Given the description of an element on the screen output the (x, y) to click on. 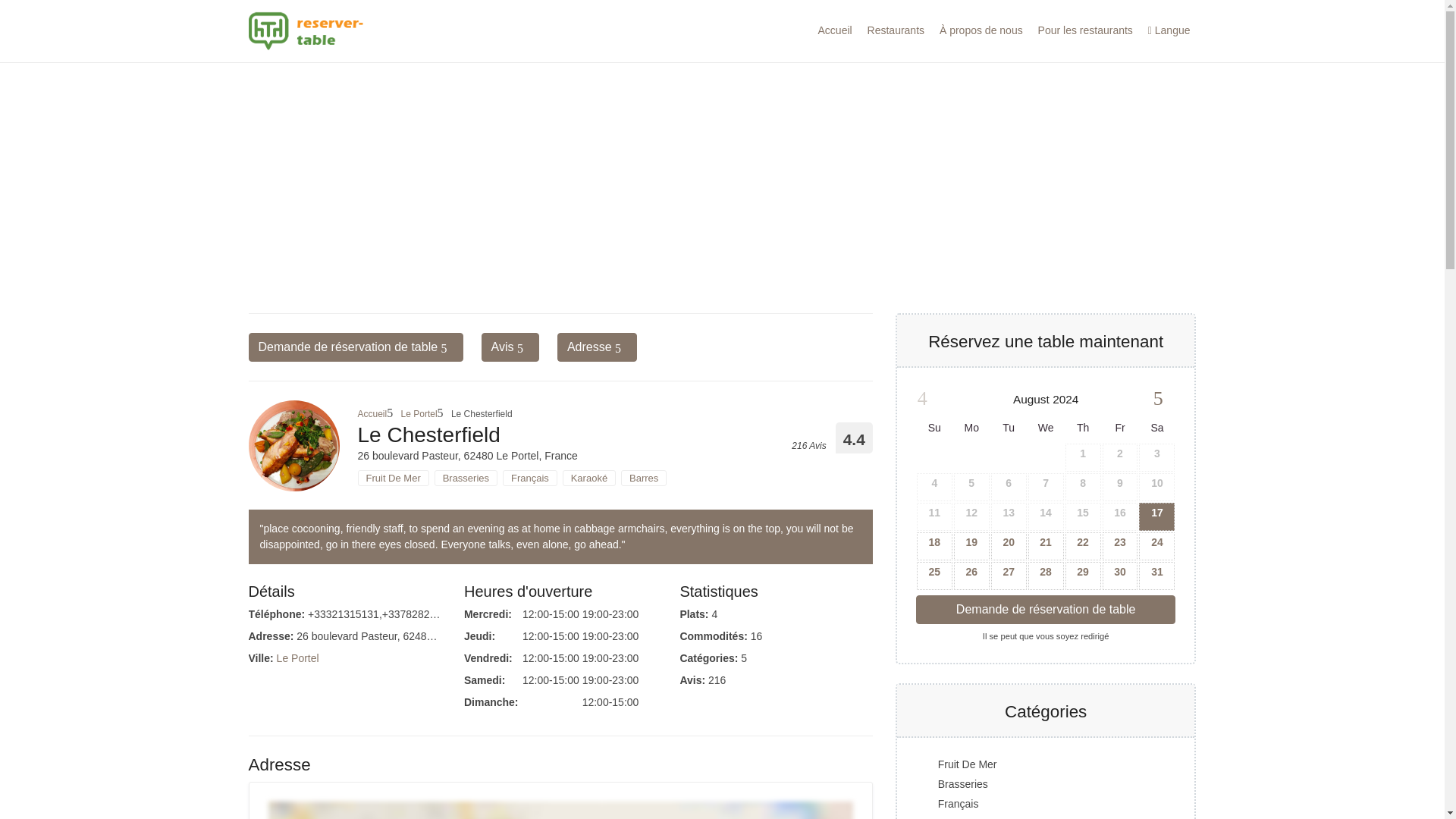
Tuesday (1008, 427)
Langue (1168, 30)
Pour les restaurants (1085, 30)
Accueil (835, 30)
Sunday (934, 427)
Restaurants (895, 30)
Prev (928, 394)
Wednesday (1046, 427)
Adresse (597, 346)
Barres (643, 478)
